Given the description of an element on the screen output the (x, y) to click on. 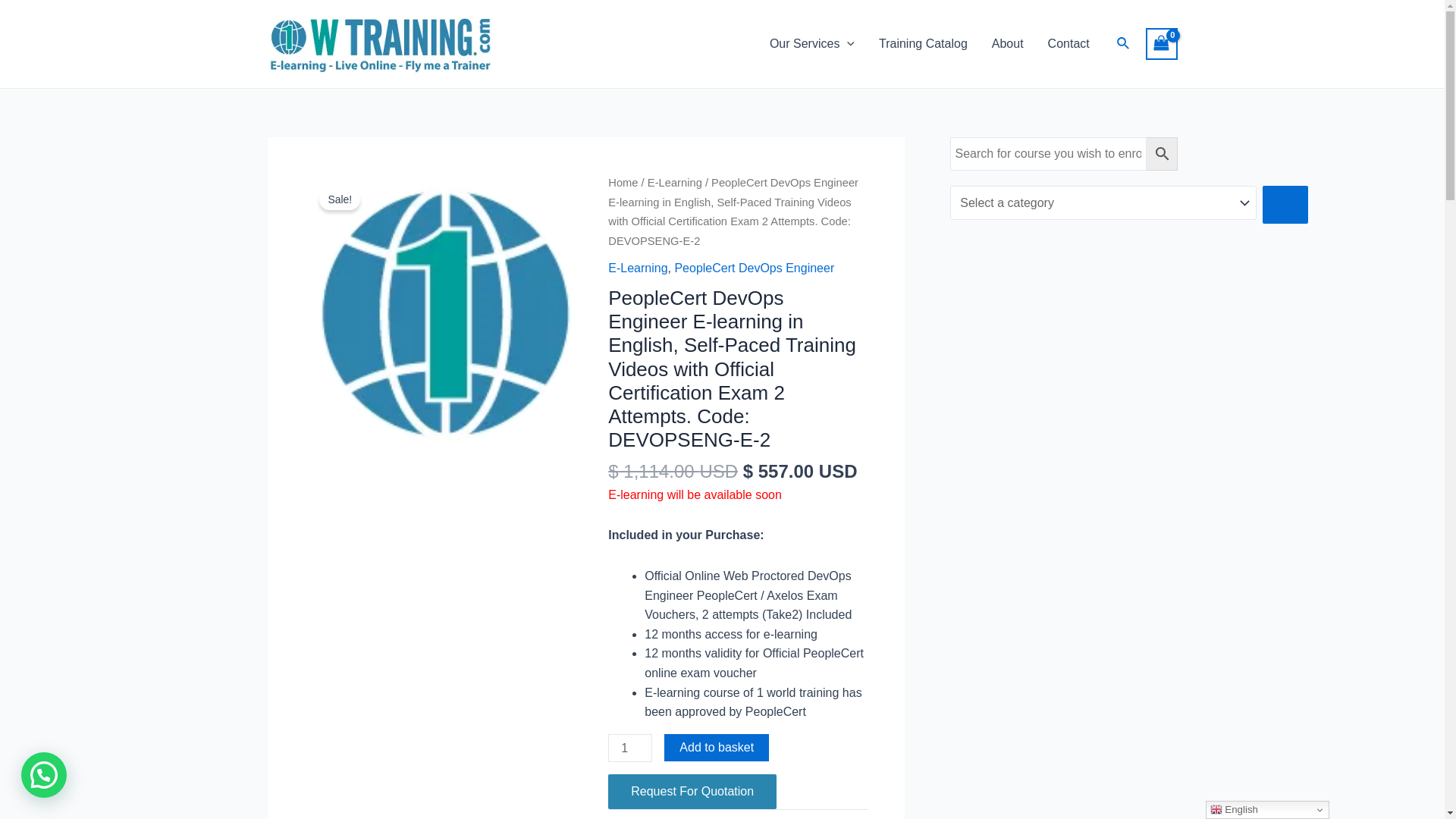
E-Learning Element type: text (674, 182)
Contact Element type: text (1068, 43)
Request For Quotation Element type: text (692, 791)
About Element type: text (1007, 43)
E-Learning Element type: text (637, 267)
Our Services Element type: text (811, 43)
PeopleCert DevOps Engineer Element type: text (754, 267)
Home Element type: text (622, 182)
Training Catalog Element type: text (922, 43)
Add to basket Element type: text (716, 747)
Search Element type: text (1123, 43)
